Given the description of an element on the screen output the (x, y) to click on. 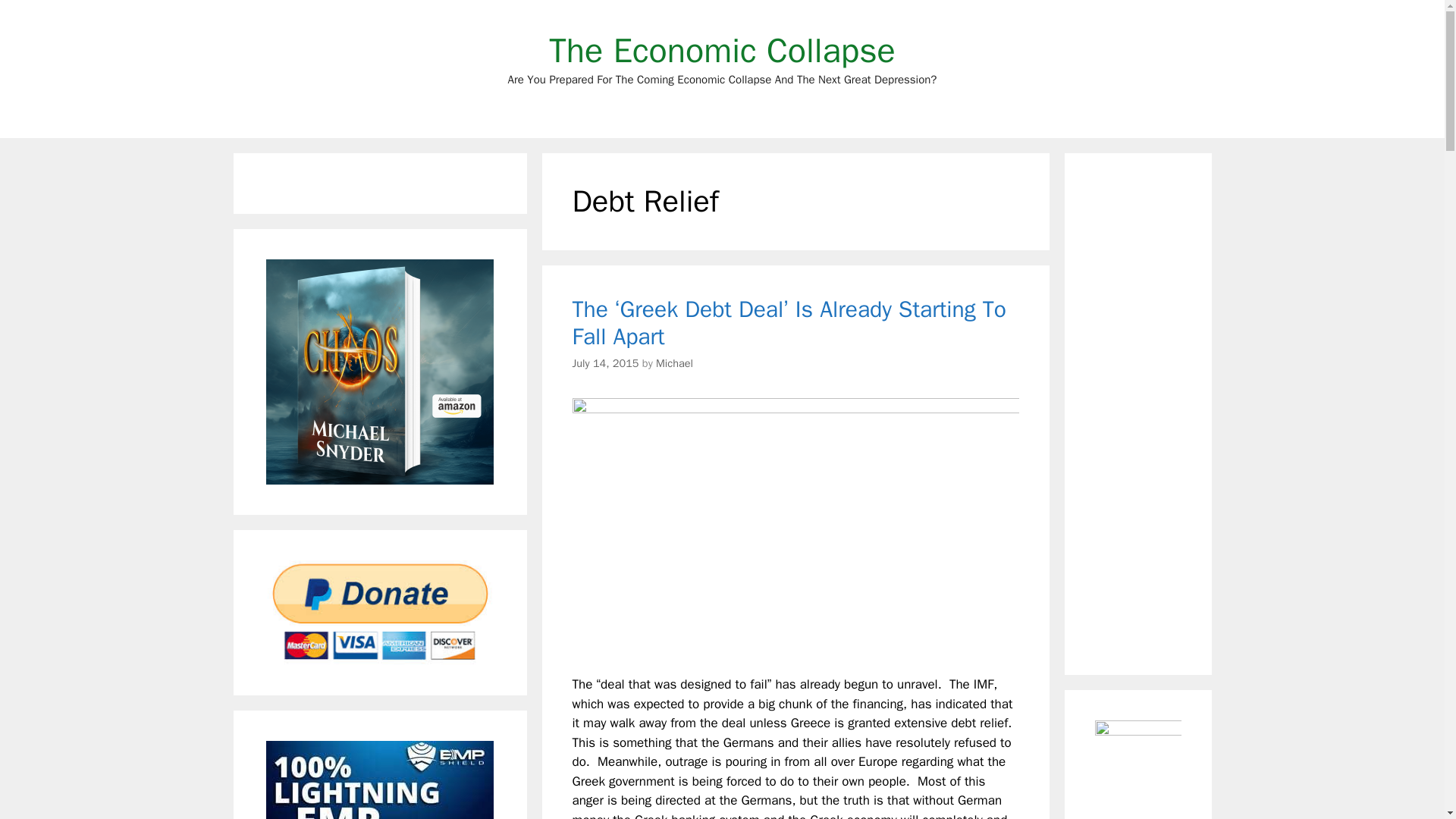
4:41 pm (605, 363)
July 14, 2015 (605, 363)
Michael (674, 363)
The Economic Collapse (721, 50)
View all posts by Michael (674, 363)
